Given the description of an element on the screen output the (x, y) to click on. 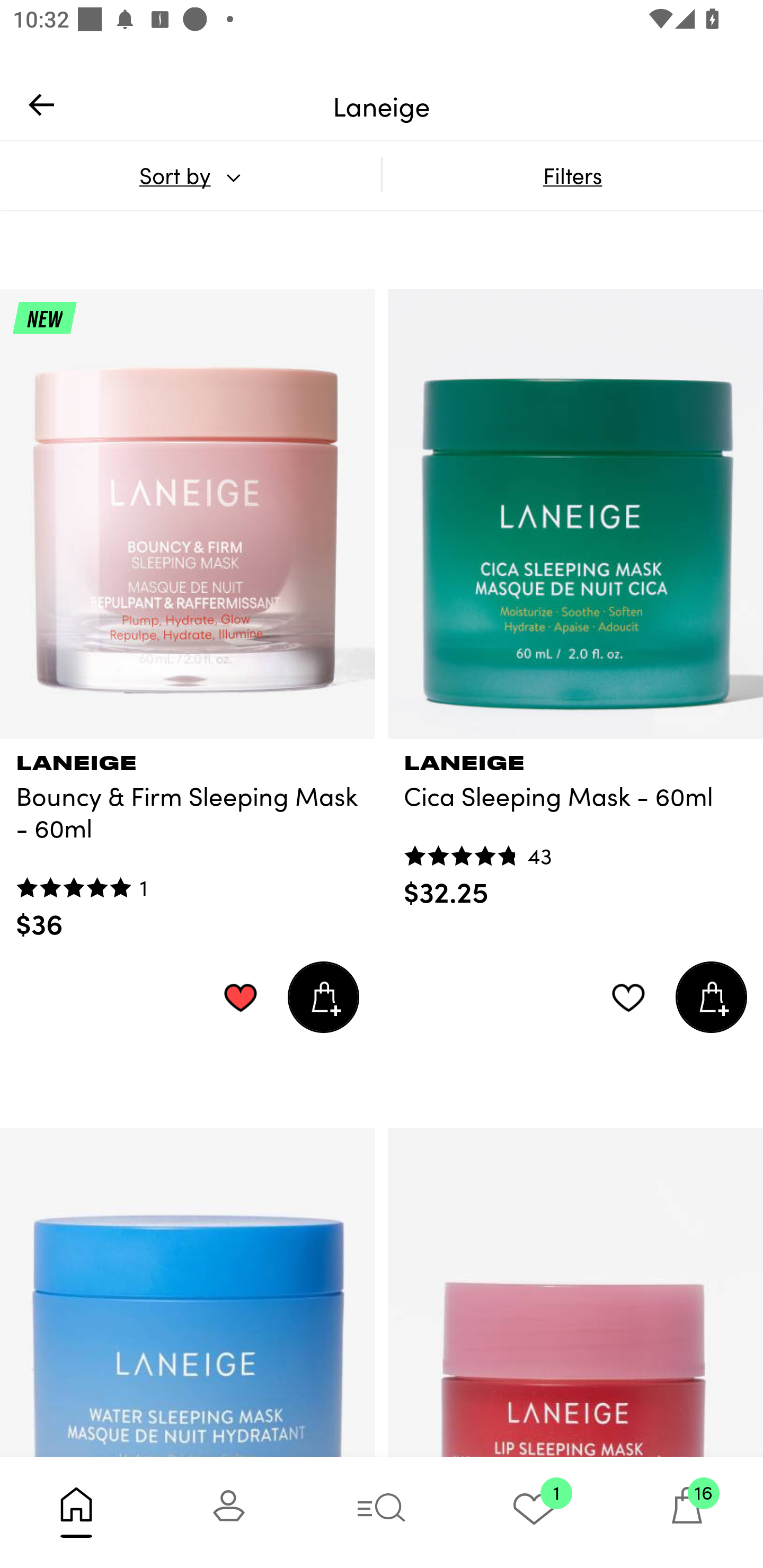
Sort by (190, 174)
Filters (572, 174)
LANEIGE Bouncy & Firm Sleeping Mask - 60ml 1 $36 (187, 840)
LANEIGE Cica Sleeping Mask - 60ml 43 $32.25 (575, 824)
1 (533, 1512)
16 (686, 1512)
